Given the description of an element on the screen output the (x, y) to click on. 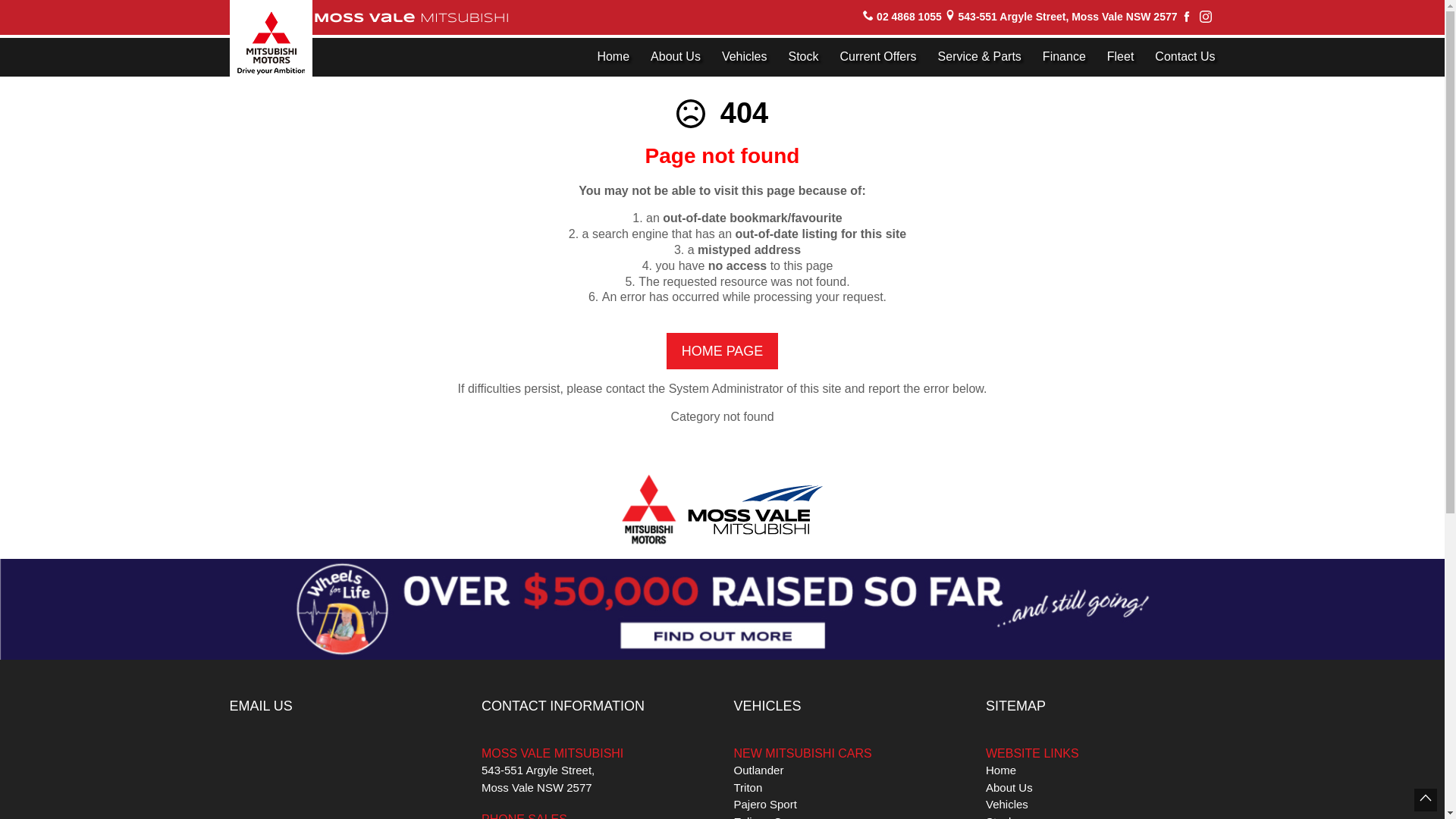
Vehicles Element type: text (1006, 803)
About Us Element type: text (675, 56)
HOME PAGE Element type: text (722, 350)
About Us Element type: text (1008, 787)
Current Offers Element type: text (878, 56)
Home Element type: text (613, 56)
Stock Element type: text (803, 56)
02 4868 1055 Element type: text (908, 17)
Home Element type: text (1000, 769)
543-551 Argyle Street, Moss Vale NSW 2577 Element type: text (1067, 17)
Finance Element type: text (1064, 56)
Pajero Sport Element type: text (765, 803)
Outlander Element type: text (759, 769)
Vehicles Element type: text (744, 56)
Service & Parts Element type: text (979, 56)
Fleet Element type: text (1120, 56)
Triton Element type: text (748, 787)
Contact Us Element type: text (1179, 56)
